Given the description of an element on the screen output the (x, y) to click on. 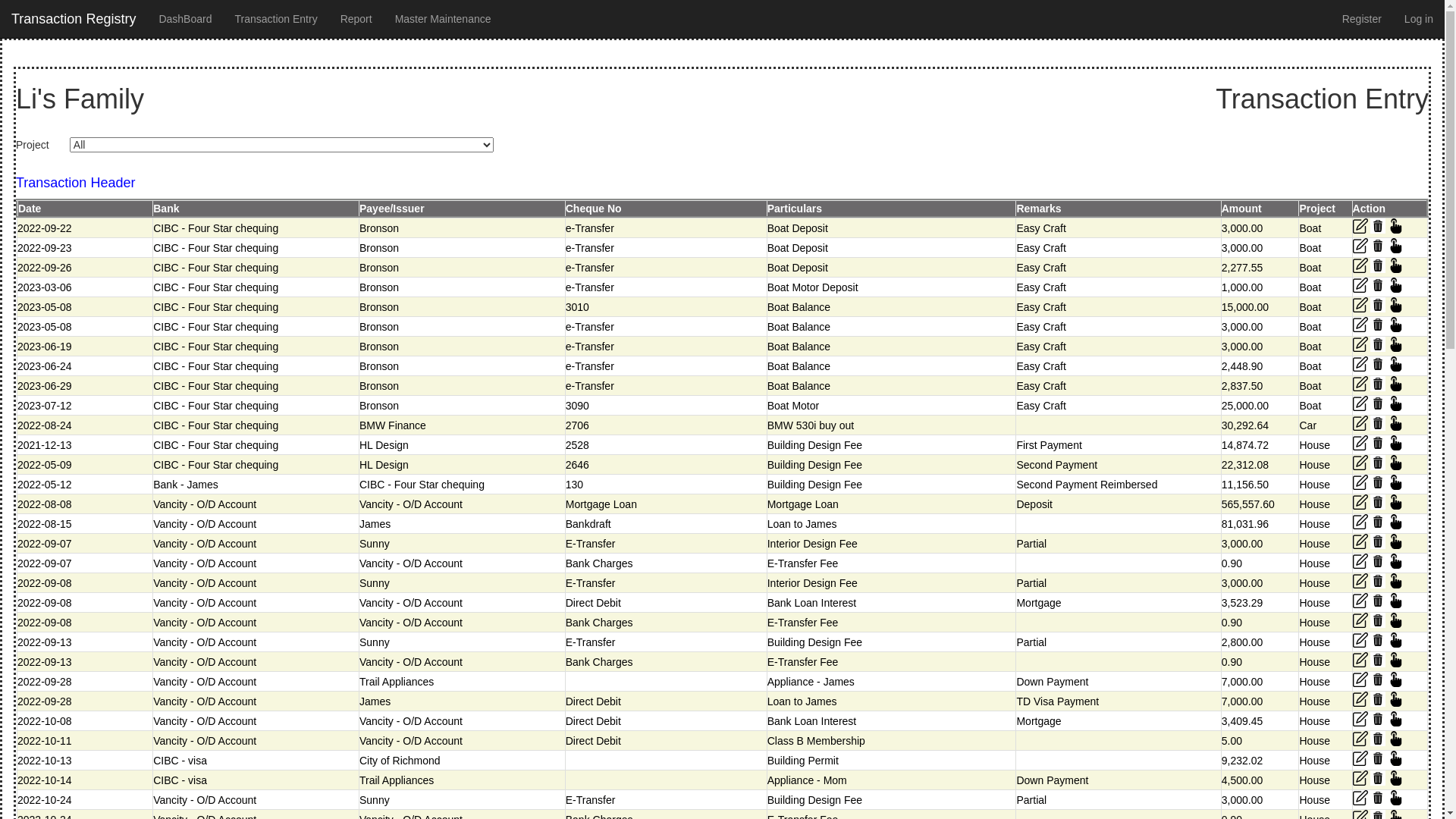
Edit Element type: hover (1360, 580)
Select Element type: hover (1395, 284)
Edit Element type: hover (1360, 363)
Edit Element type: hover (1360, 245)
Edit Element type: hover (1360, 560)
Select Element type: hover (1395, 462)
Delete Element type: hover (1377, 245)
Select Element type: hover (1395, 403)
Delete Element type: hover (1377, 343)
Project Element type: text (1316, 208)
Delete Element type: hover (1377, 462)
Select Element type: hover (1395, 541)
Select Element type: hover (1395, 422)
Delete Element type: hover (1377, 541)
Delete Element type: hover (1377, 403)
Edit Element type: hover (1360, 265)
Select Element type: hover (1395, 304)
Select Element type: hover (1395, 659)
Edit Element type: hover (1360, 738)
Payee/Issuer Element type: text (391, 208)
Report Element type: text (356, 18)
Select Element type: hover (1395, 343)
Edit Element type: hover (1360, 698)
Delete Element type: hover (1377, 777)
Edit Element type: hover (1360, 442)
Log in Element type: text (1418, 18)
Edit Element type: hover (1360, 383)
Delete Element type: hover (1377, 324)
Select Element type: hover (1395, 245)
Select Element type: hover (1395, 481)
Select Element type: hover (1395, 324)
Select Element type: hover (1395, 580)
Delete Element type: hover (1377, 738)
Edit Element type: hover (1360, 600)
Delete Element type: hover (1377, 679)
Transaction Entry Element type: text (275, 18)
Edit Element type: hover (1360, 659)
Edit Element type: hover (1360, 541)
Edit Element type: hover (1360, 718)
Delete Element type: hover (1377, 639)
Select Element type: hover (1395, 777)
Select Element type: hover (1395, 757)
Register Element type: text (1361, 18)
Delete Element type: hover (1377, 363)
Delete Element type: hover (1377, 659)
Edit Element type: hover (1360, 679)
Edit Element type: hover (1360, 343)
Select Element type: hover (1395, 265)
Select Element type: hover (1395, 619)
Select Element type: hover (1395, 521)
Edit Element type: hover (1360, 324)
Select Element type: hover (1395, 718)
Edit Element type: hover (1360, 619)
Select Element type: hover (1395, 501)
Delete Element type: hover (1377, 521)
Bank Element type: text (165, 208)
DashBoard Element type: text (184, 18)
Edit Element type: hover (1360, 225)
Delete Element type: hover (1377, 698)
Select Element type: hover (1395, 363)
Delete Element type: hover (1377, 481)
Delete Element type: hover (1377, 422)
Delete Element type: hover (1377, 757)
Master Maintenance Element type: text (442, 18)
Particulars Element type: text (794, 208)
Cheque No Element type: text (593, 208)
Delete Element type: hover (1377, 501)
Delete Element type: hover (1377, 284)
Remarks Element type: text (1038, 208)
Delete Element type: hover (1377, 383)
Select Element type: hover (1395, 639)
Delete Element type: hover (1377, 600)
Select Element type: hover (1395, 698)
Edit Element type: hover (1360, 403)
Delete Element type: hover (1377, 265)
Delete Element type: hover (1377, 560)
Select Element type: hover (1395, 225)
Select Element type: hover (1395, 797)
Delete Element type: hover (1377, 580)
Edit Element type: hover (1360, 639)
Edit Element type: hover (1360, 757)
Select Element type: hover (1395, 738)
Select Element type: hover (1395, 383)
Edit Element type: hover (1360, 304)
Select Element type: hover (1395, 600)
Select Element type: hover (1395, 560)
Edit Element type: hover (1360, 777)
Select Element type: hover (1395, 679)
Delete Element type: hover (1377, 718)
Delete Element type: hover (1377, 619)
Edit Element type: hover (1360, 797)
Edit Element type: hover (1360, 462)
Date Element type: text (29, 208)
Edit Element type: hover (1360, 501)
Delete Element type: hover (1377, 797)
Select Element type: hover (1395, 442)
Edit Element type: hover (1360, 521)
Edit Element type: hover (1360, 284)
Delete Element type: hover (1377, 304)
Delete Element type: hover (1377, 225)
Delete Element type: hover (1377, 442)
Edit Element type: hover (1360, 481)
Transaction Registry Element type: text (73, 18)
Edit Element type: hover (1360, 422)
